Given the description of an element on the screen output the (x, y) to click on. 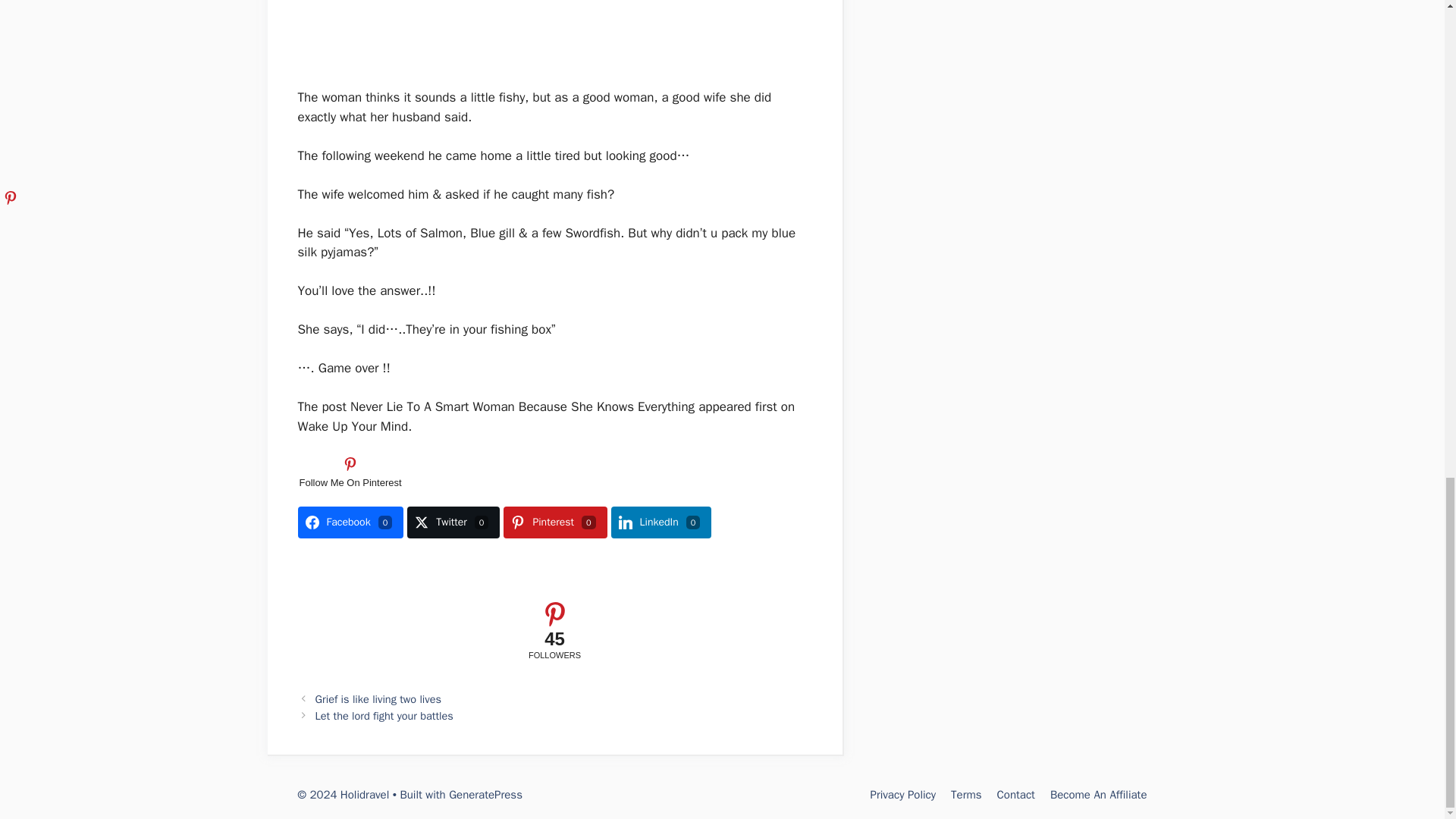
Privacy Policy (902, 794)
Pinterest0 (555, 522)
Terms (965, 794)
Share on Pinterest (555, 522)
Share on Twitter (453, 522)
Share on LinkedIn (661, 522)
Facebook0 (350, 522)
Become An Affiliate (1098, 794)
Contact (1016, 794)
LinkedIn0 (661, 522)
Let the lord fight your battles (383, 715)
Grief is like living two lives (378, 698)
GeneratePress (485, 794)
Twitter0 (453, 522)
Share on Facebook (350, 522)
